Given the description of an element on the screen output the (x, y) to click on. 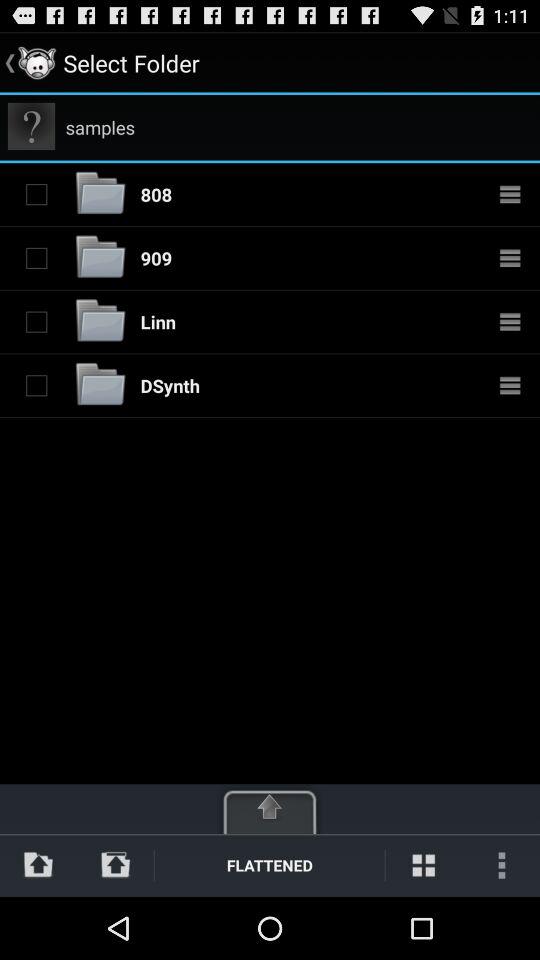
jump until 808 item (156, 193)
